Given the description of an element on the screen output the (x, y) to click on. 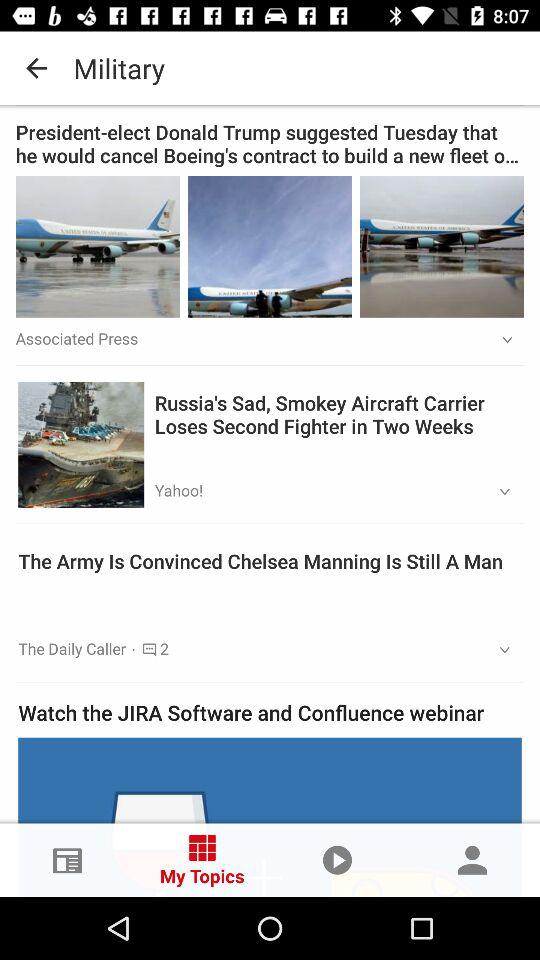
go back (270, 68)
